Given the description of an element on the screen output the (x, y) to click on. 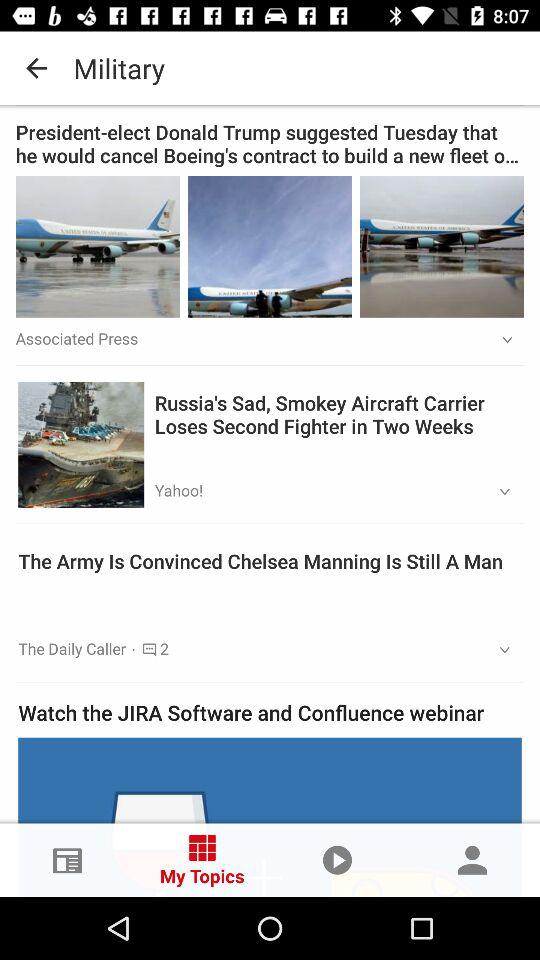
go back (270, 68)
